Given the description of an element on the screen output the (x, y) to click on. 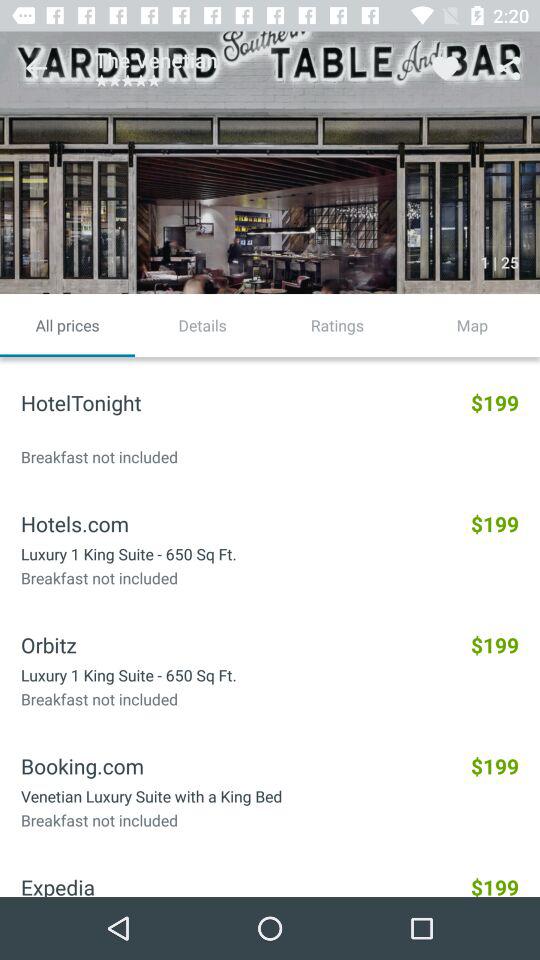
launch the map icon (472, 325)
